Given the description of an element on the screen output the (x, y) to click on. 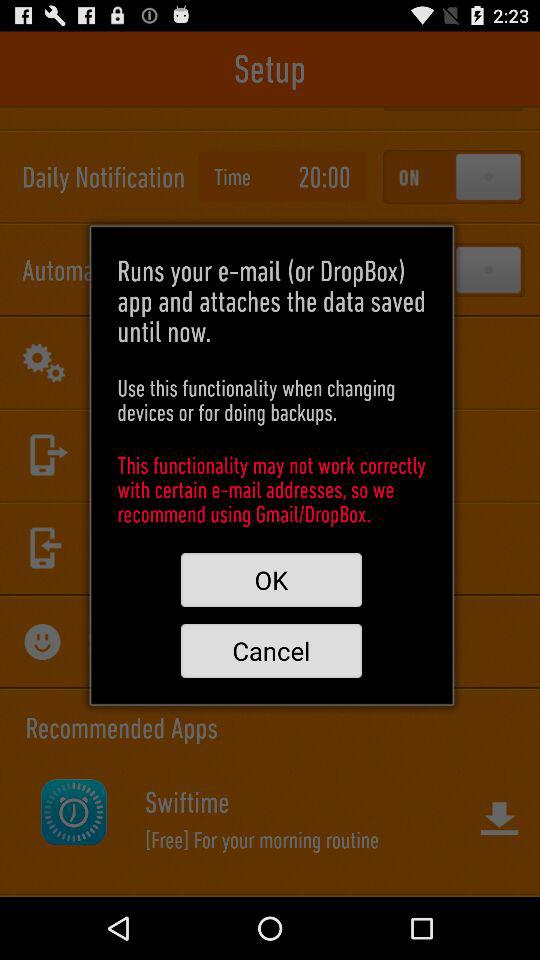
select ok button (271, 580)
